Given the description of an element on the screen output the (x, y) to click on. 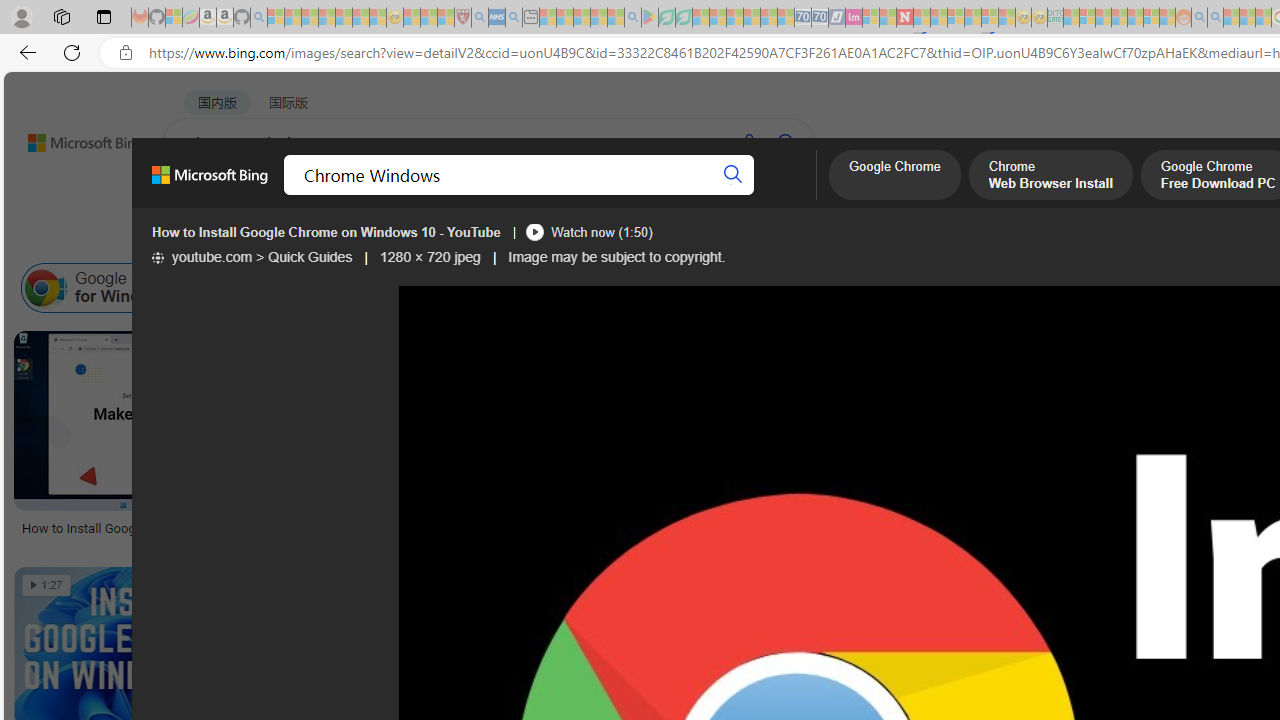
IMAGES (360, 196)
Date (591, 237)
Installing Google Chrome (850, 287)
MY BING (276, 195)
Windows 8 Chrome (296, 287)
1:27 (45, 585)
Kinda Frugal - MSN - Sleeping (1135, 17)
VIDEOS (545, 195)
Date (591, 237)
